Given the description of an element on the screen output the (x, y) to click on. 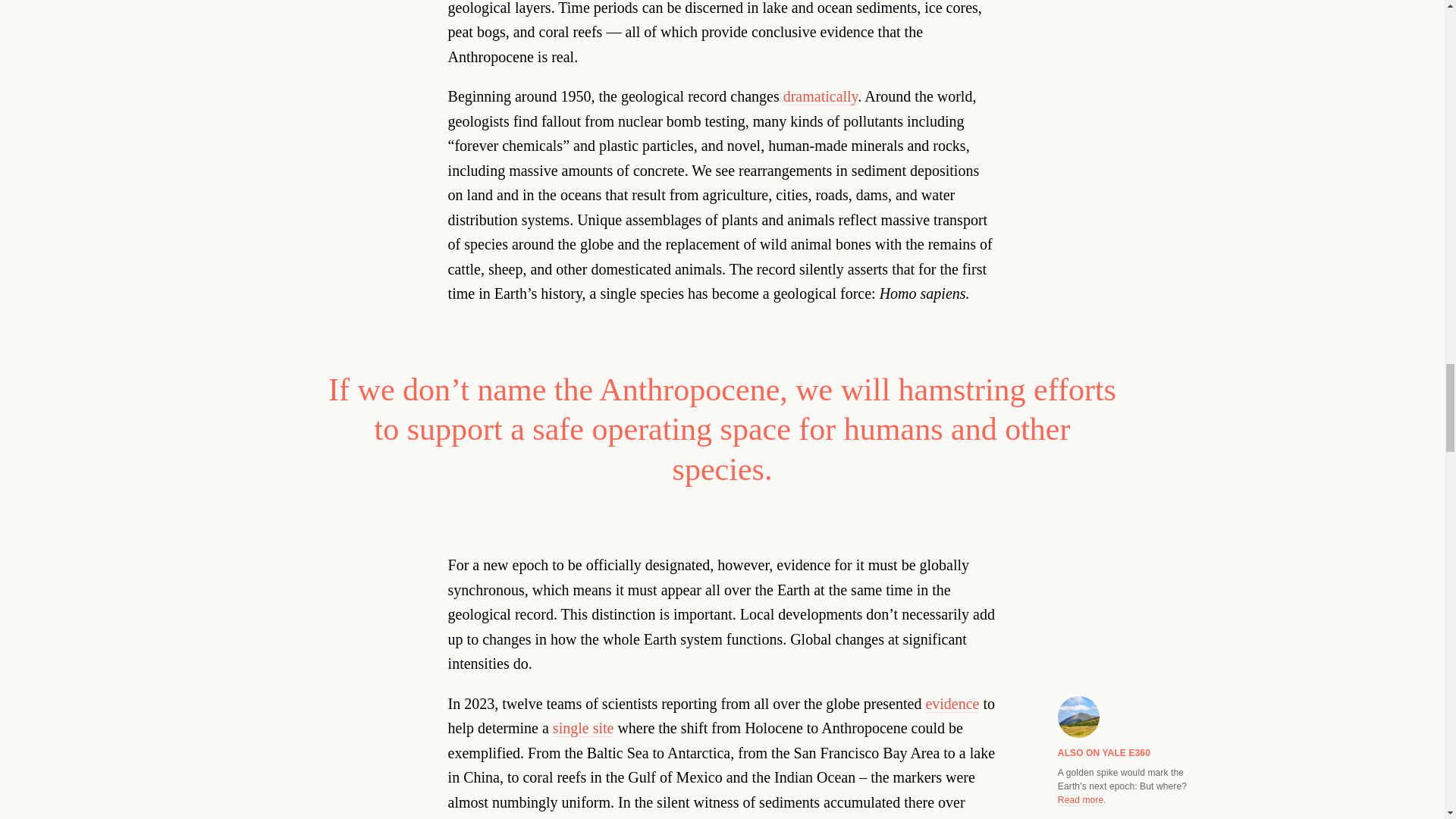
evidence (951, 703)
Read more (1080, 799)
dramatically (821, 96)
single site (583, 728)
